Given the description of an element on the screen output the (x, y) to click on. 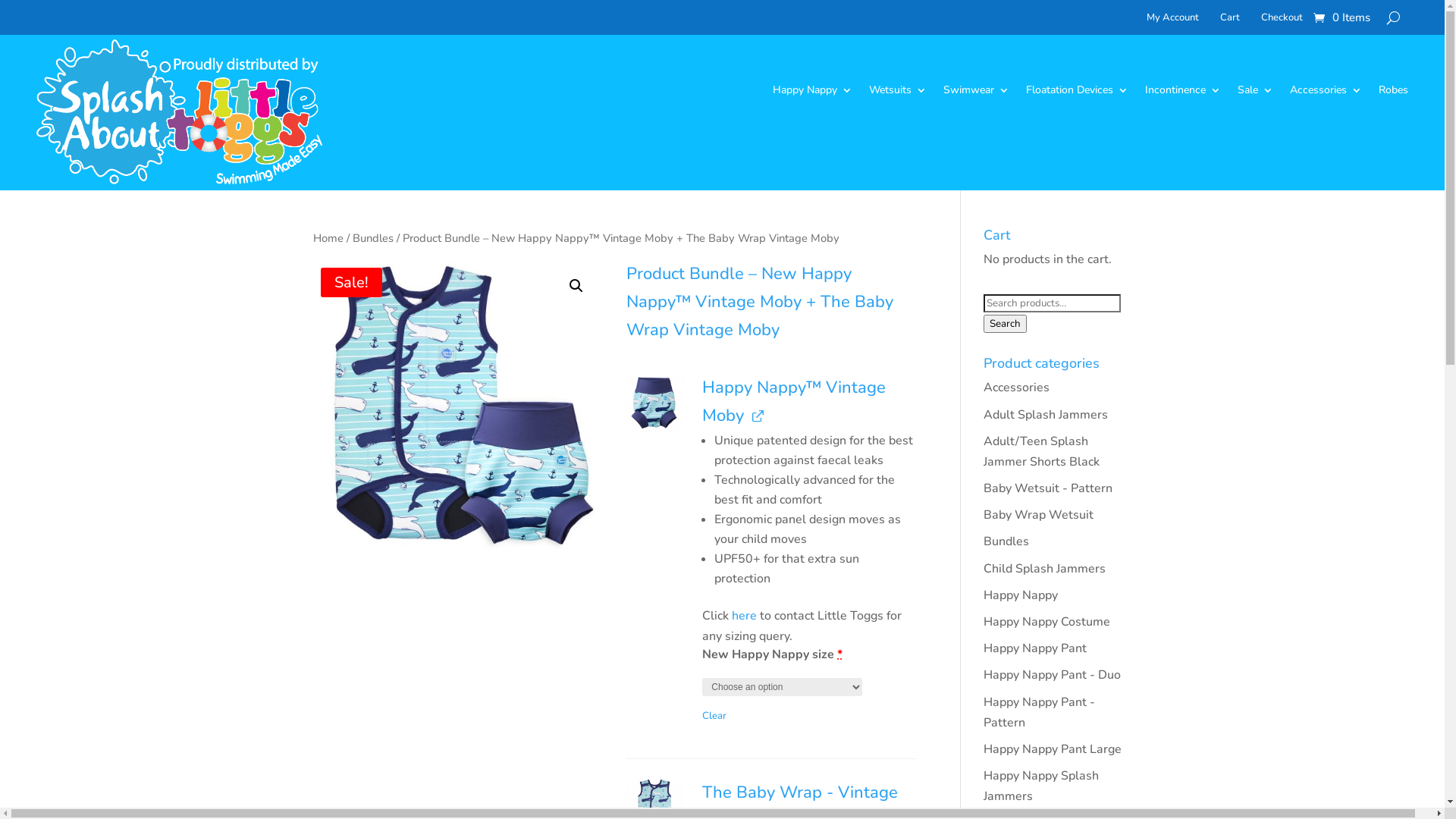
Splash_about_Little_Toggs_2 Element type: hover (179, 111)
My Account Element type: text (1172, 20)
Bundles Element type: text (371, 237)
Happy Nappy Pant Element type: text (1034, 648)
Floatation Devices Element type: text (1077, 92)
Sale Element type: text (1255, 92)
Bundles Element type: text (1006, 541)
Home Element type: text (327, 237)
Happy Nappy Element type: text (812, 92)
Accessories Element type: text (1325, 92)
Happy Nappy Splash Jammers Element type: text (1040, 785)
vintage_moby_new_improved_happy_nappy Element type: hover (655, 402)
Adult/Teen Splash Jammer Shorts Black Element type: text (1041, 451)
vm_7_1 Element type: hover (457, 404)
Robes Element type: text (1393, 92)
Checkout Element type: text (1281, 20)
Happy Nappy Costume Element type: text (1046, 621)
Search Element type: text (1004, 323)
Swimwear Element type: text (976, 92)
Wetsuits Element type: text (897, 92)
Child Splash Jammers Element type: text (1044, 568)
0 Items Element type: text (1341, 17)
Happy Nappy Pant Large Element type: text (1052, 748)
Cart Element type: text (1229, 20)
Happy Nappy Element type: text (1020, 594)
Clear Element type: text (714, 716)
Happy Nappy Pant - Pattern Element type: text (1039, 712)
Baby Wetsuit - Pattern Element type: text (1047, 488)
here Element type: text (743, 615)
Incontinence Element type: text (1182, 92)
Happy Nappy Pant - Duo Element type: text (1051, 674)
Baby Wrap Wetsuit Element type: text (1038, 514)
Adult Splash Jammers Element type: text (1045, 414)
Accessories Element type: text (1016, 387)
